Given the description of an element on the screen output the (x, y) to click on. 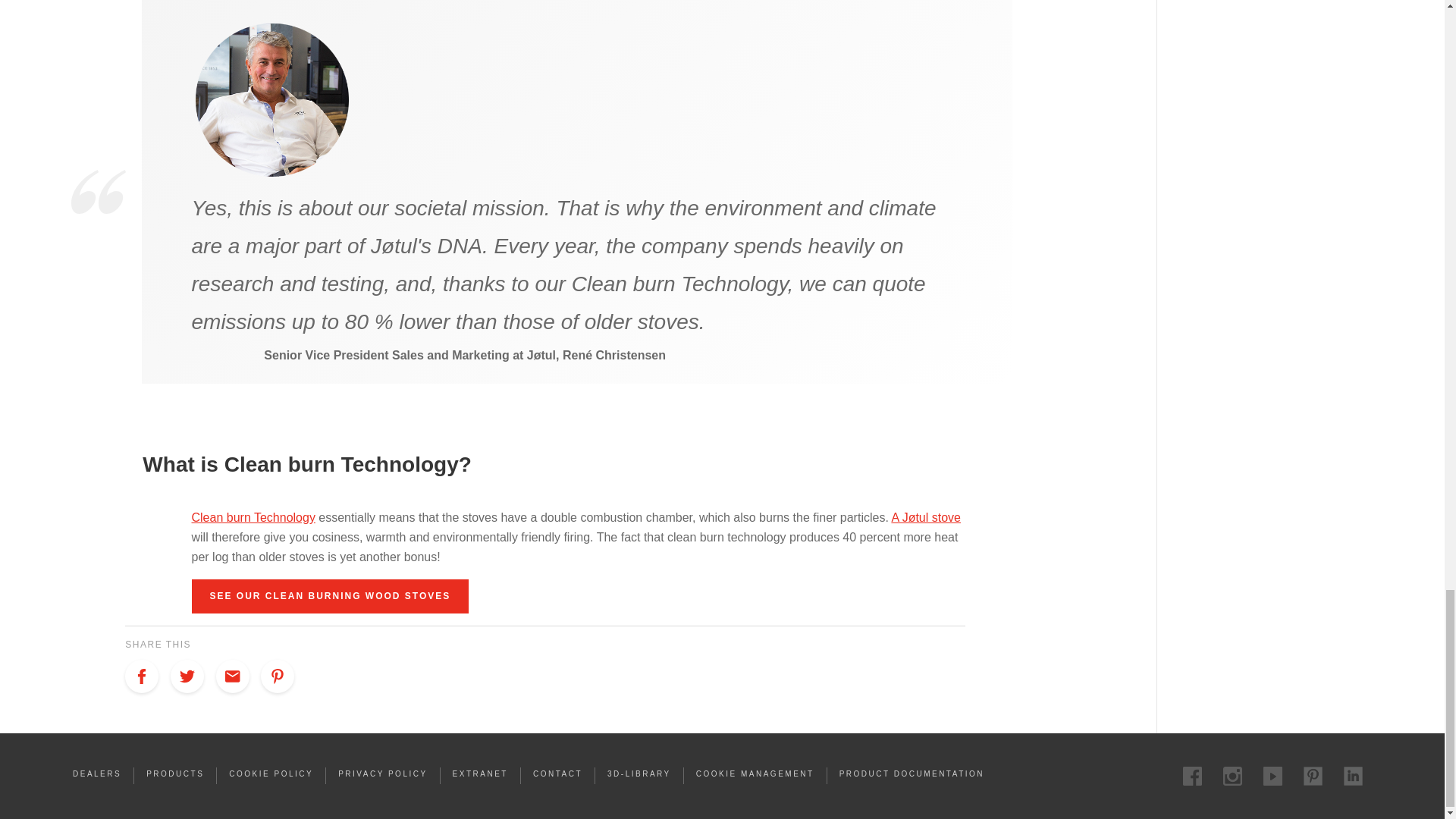
Clean burn Technology (252, 517)
See our clean burning wood stoves (329, 596)
